Given the description of an element on the screen output the (x, y) to click on. 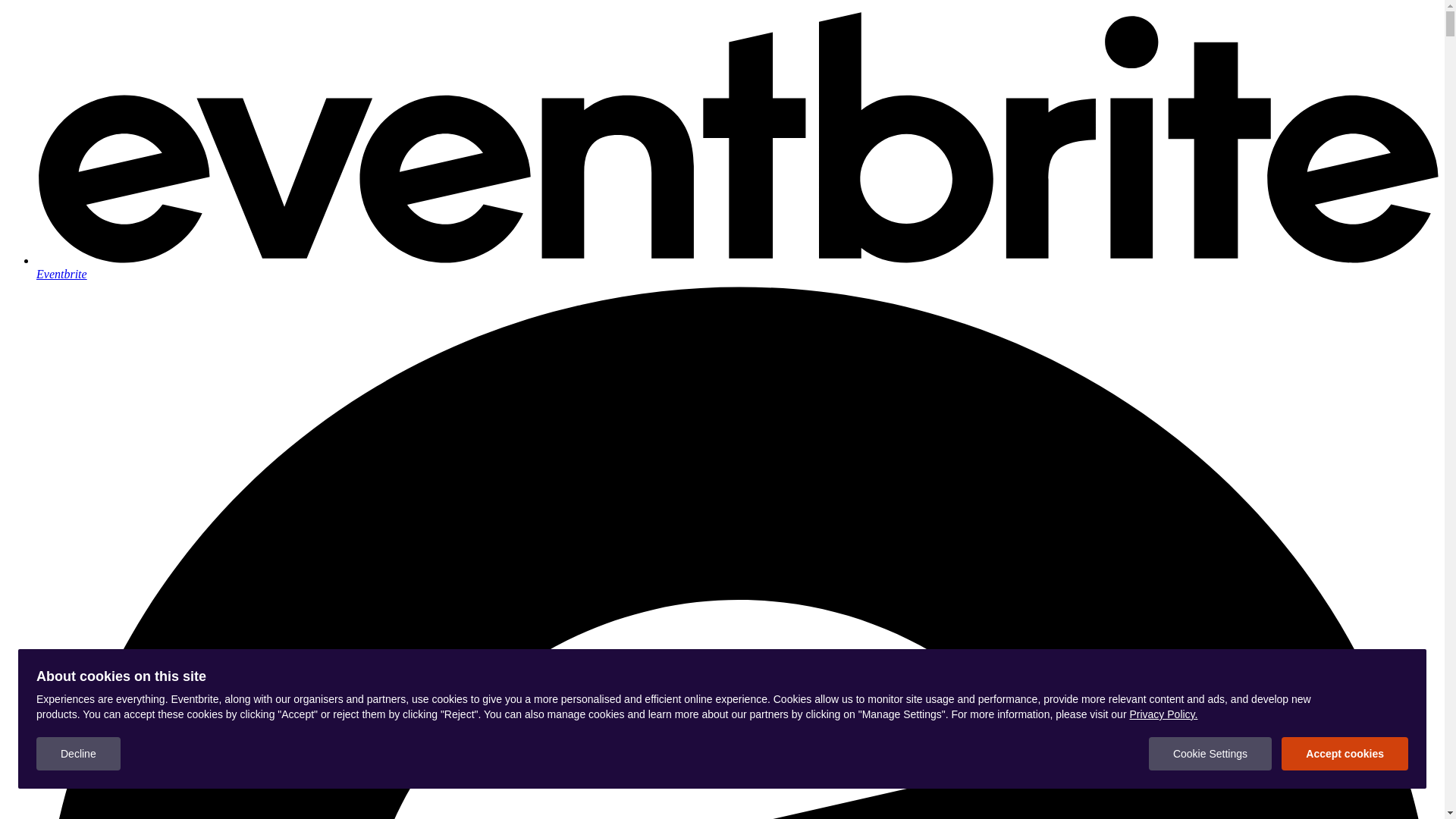
Privacy Policy. Element type: text (1163, 714)
Cookie Settings Element type: text (1209, 753)
Eventbrite Element type: text (737, 267)
Accept cookies Element type: text (1344, 753)
Decline Element type: text (78, 753)
